Given the description of an element on the screen output the (x, y) to click on. 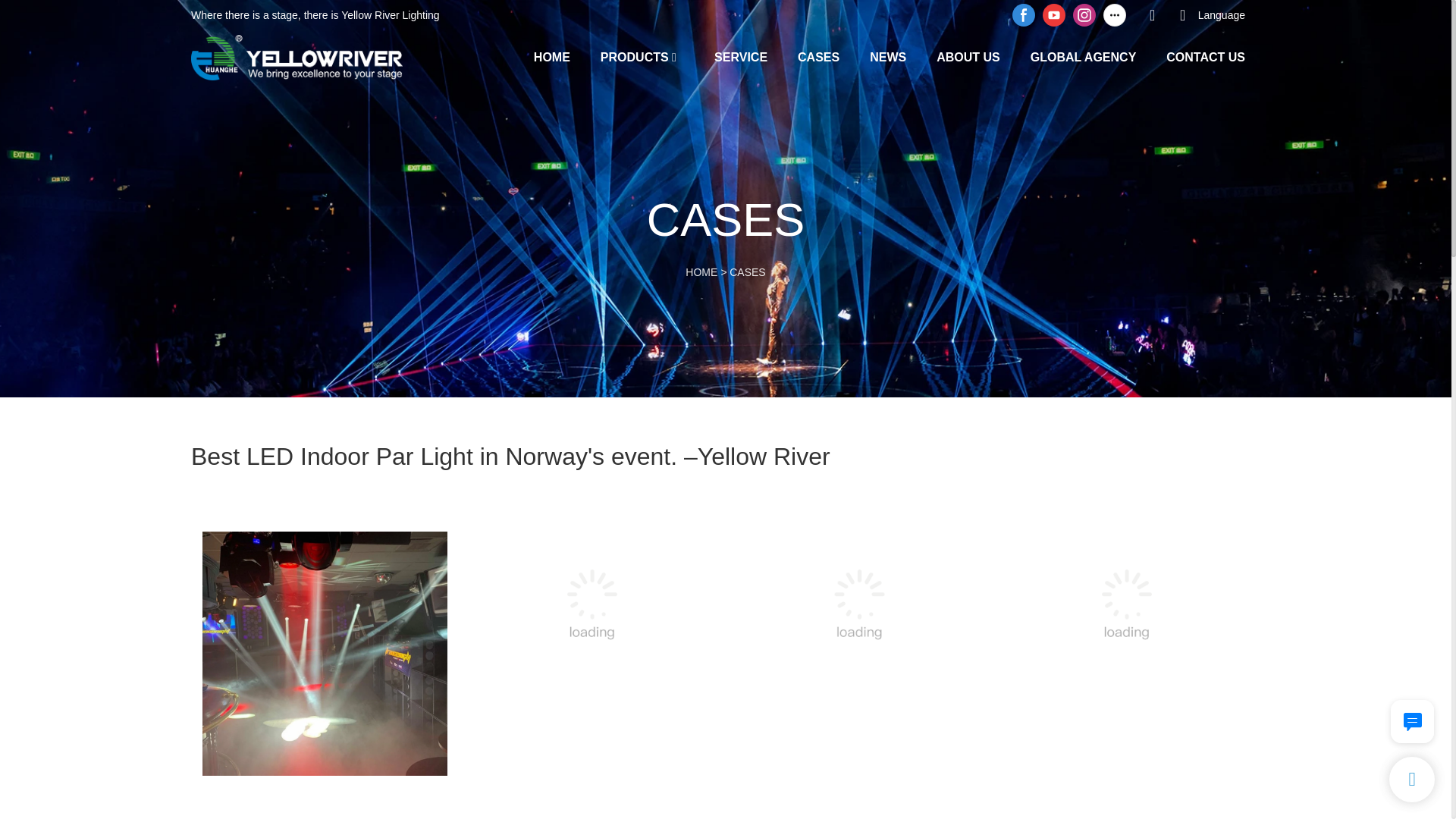
youtube (1053, 15)
HOME (552, 56)
CONTACT US (1205, 56)
instagram (1083, 15)
ABOUT US (968, 56)
facebook (1024, 15)
NEWS (887, 56)
PRODUCTS (633, 56)
GLOBAL AGENCY (1083, 56)
CASES (747, 272)
HOME (701, 272)
SERVICE (740, 56)
CASES (818, 56)
